Given the description of an element on the screen output the (x, y) to click on. 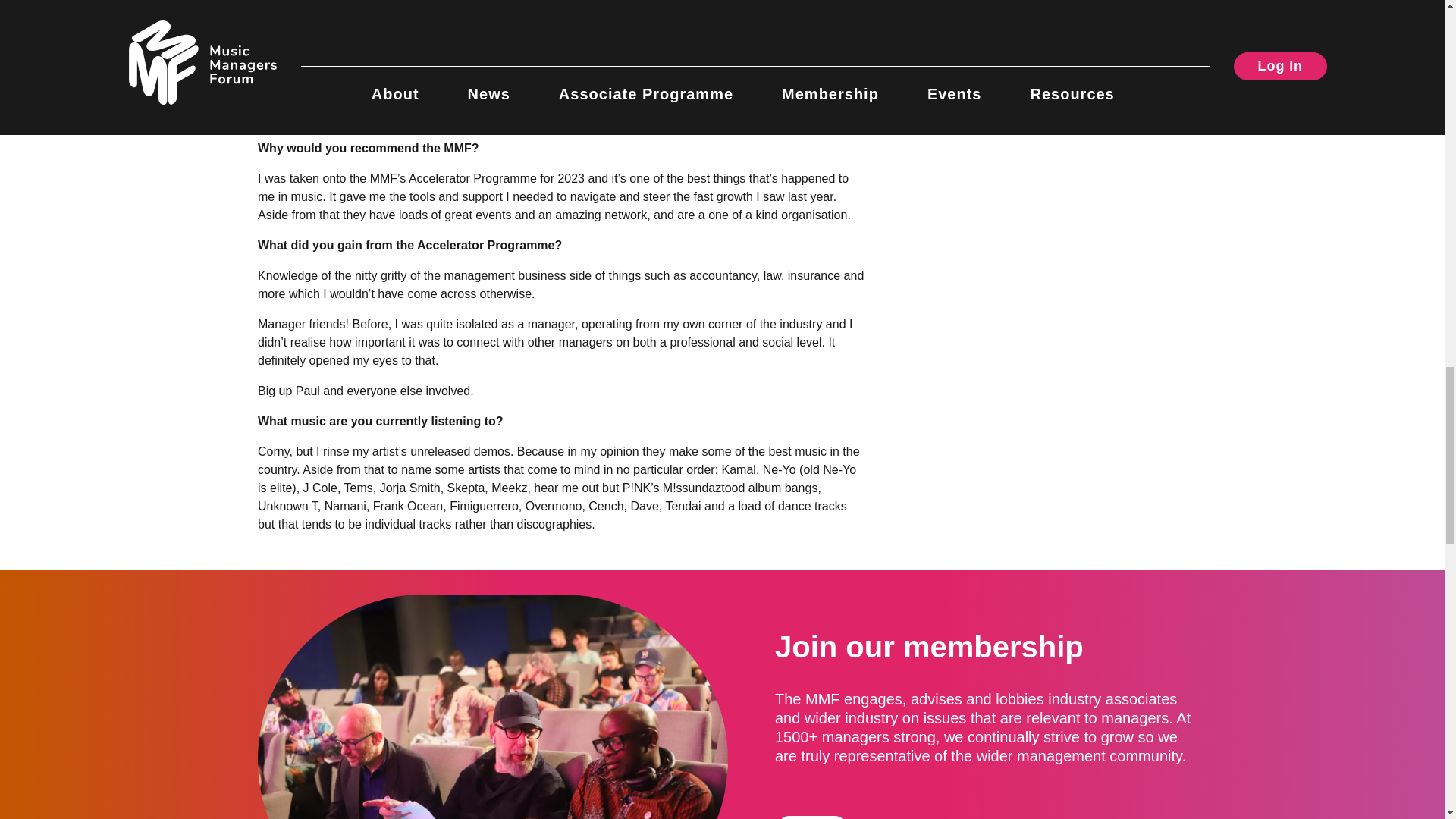
Join us (811, 816)
